Given the description of an element on the screen output the (x, y) to click on. 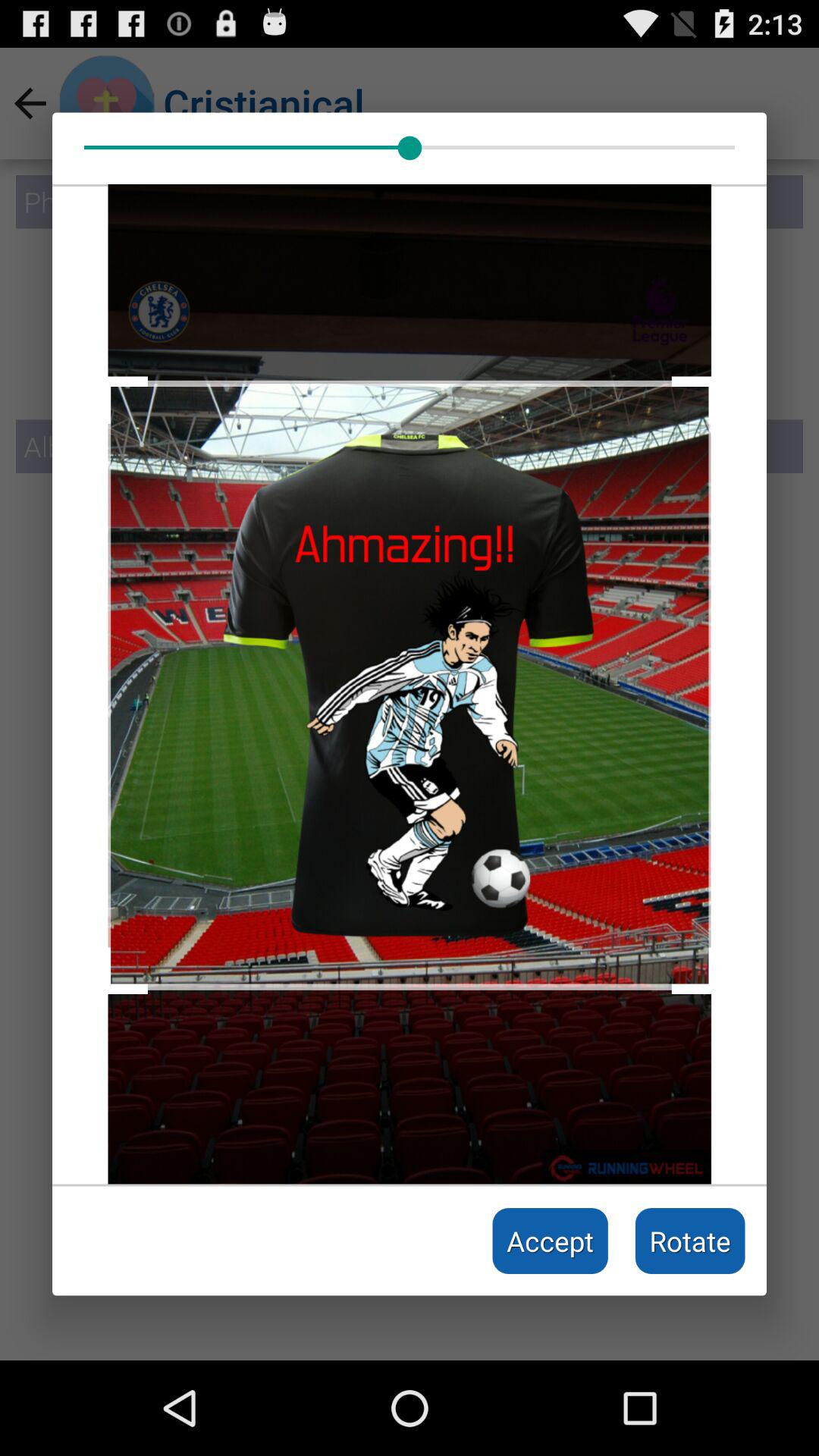
click icon next to accept (689, 1240)
